Given the description of an element on the screen output the (x, y) to click on. 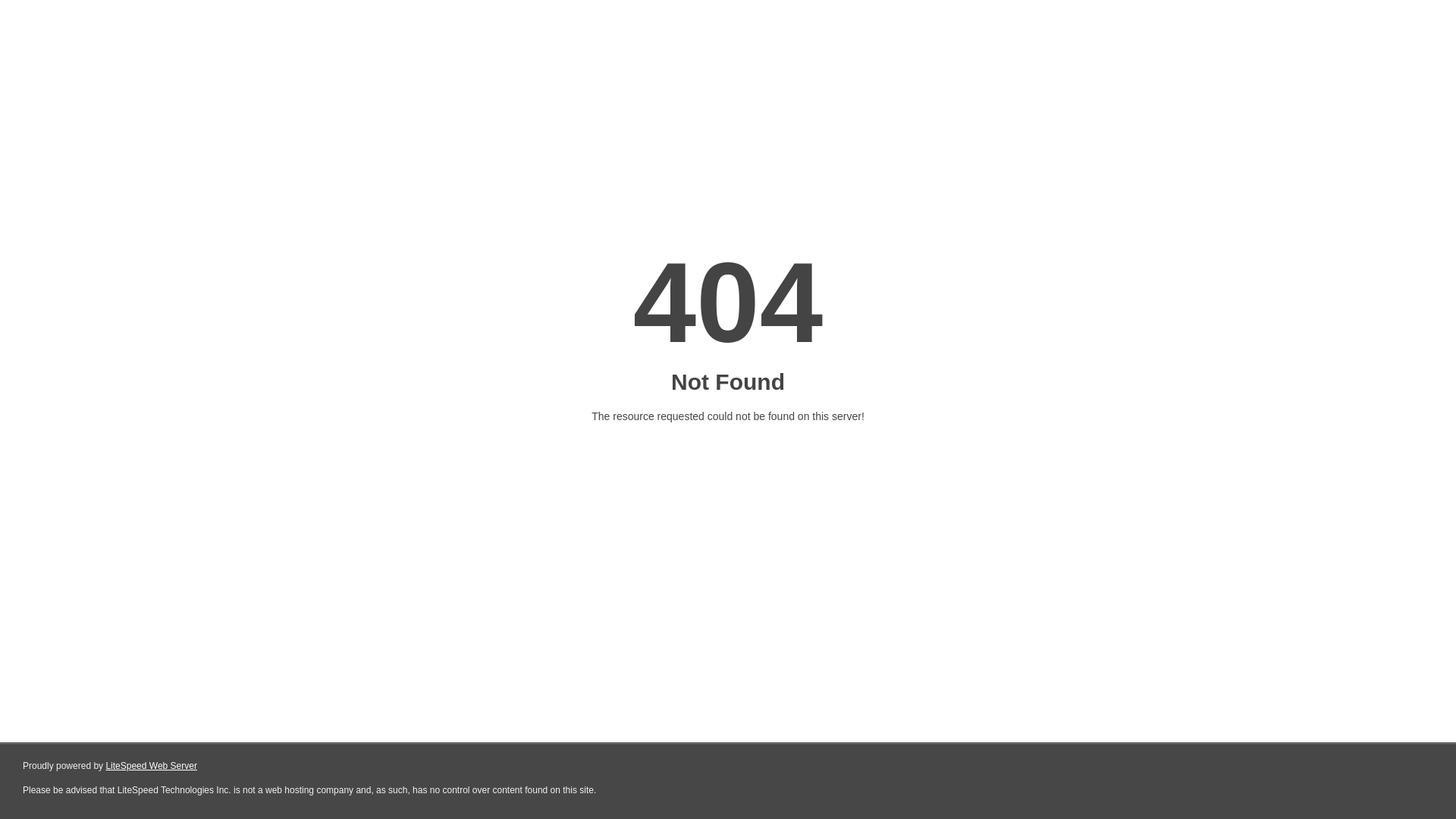
LiteSpeed Web Server Element type: text (151, 765)
